Given the description of an element on the screen output the (x, y) to click on. 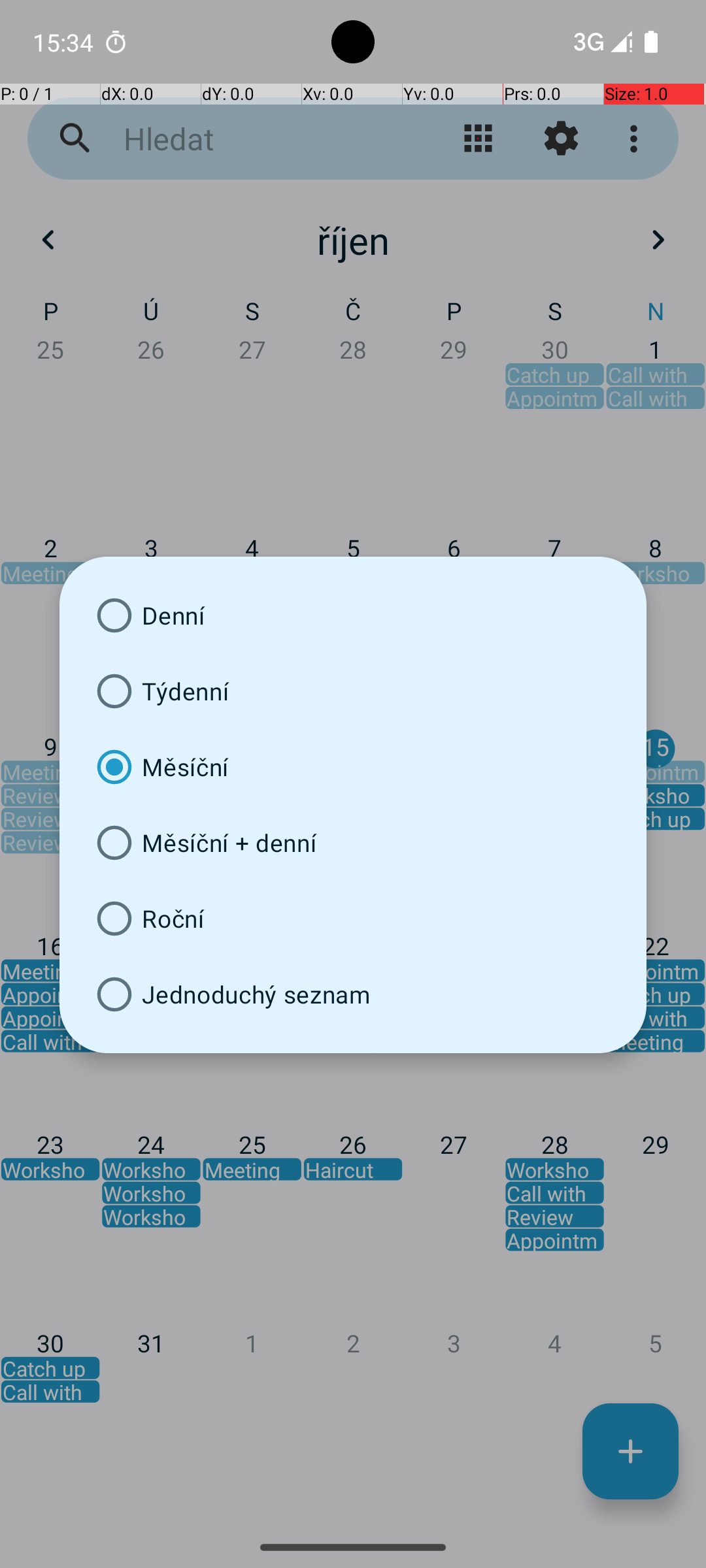
Denní Element type: android.widget.RadioButton (352, 615)
Týdenní Element type: android.widget.RadioButton (352, 691)
Měsíční Element type: android.widget.RadioButton (352, 766)
Měsíční + denní Element type: android.widget.RadioButton (352, 842)
Roční Element type: android.widget.RadioButton (352, 918)
Jednoduchý seznam Element type: android.widget.RadioButton (352, 994)
